Given the description of an element on the screen output the (x, y) to click on. 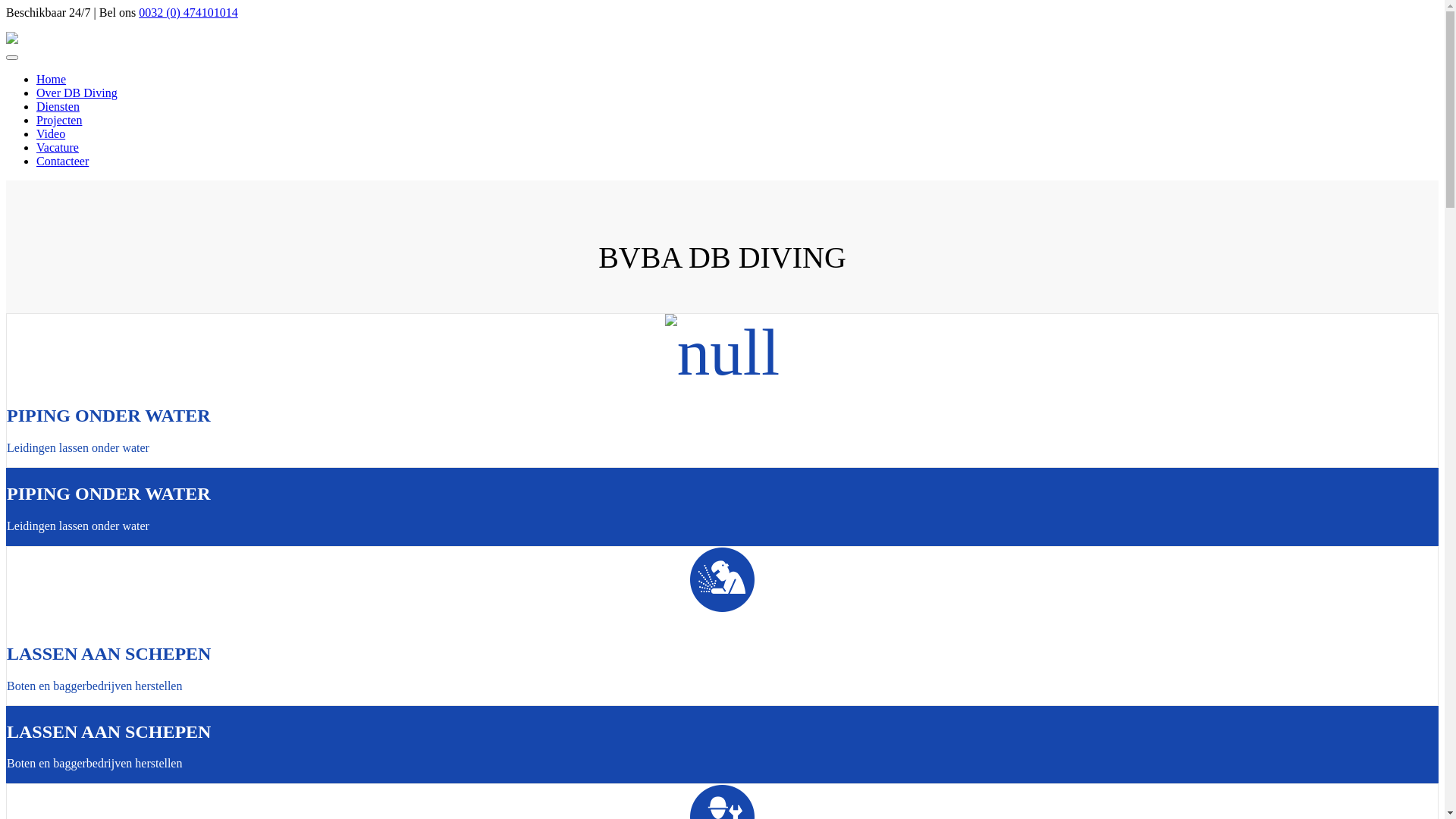
0032 (0) 474101014 Element type: text (188, 12)
Diensten Element type: text (57, 106)
Vacature Element type: text (57, 147)
Home Element type: text (50, 78)
Video Element type: text (50, 133)
Over DB Diving Element type: text (76, 92)
Projecten Element type: text (58, 119)
Contacteer Element type: text (62, 160)
